Given the description of an element on the screen output the (x, y) to click on. 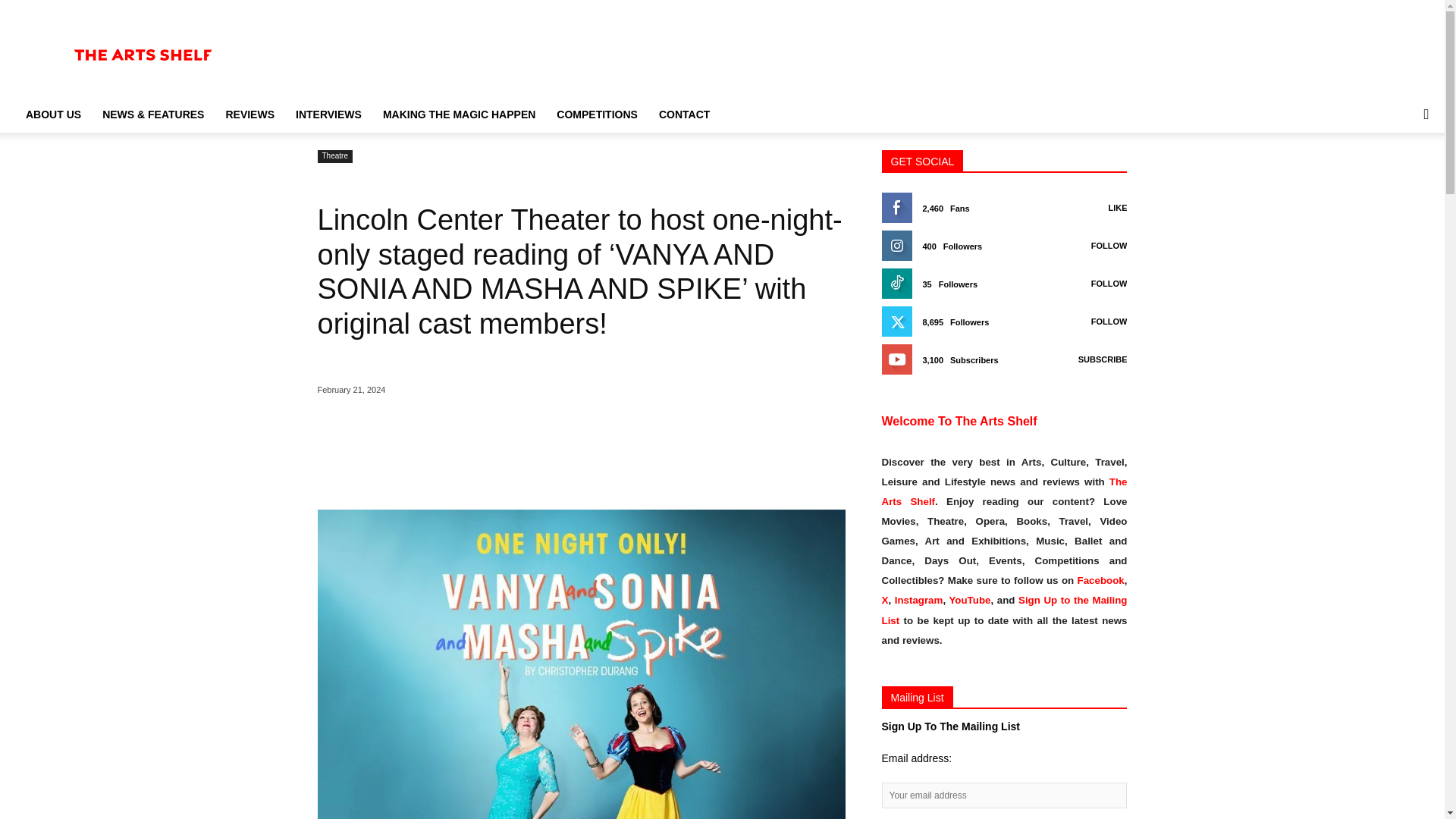
The Arts Shelf Logo (143, 55)
ABOUT US (52, 114)
